Given the description of an element on the screen output the (x, y) to click on. 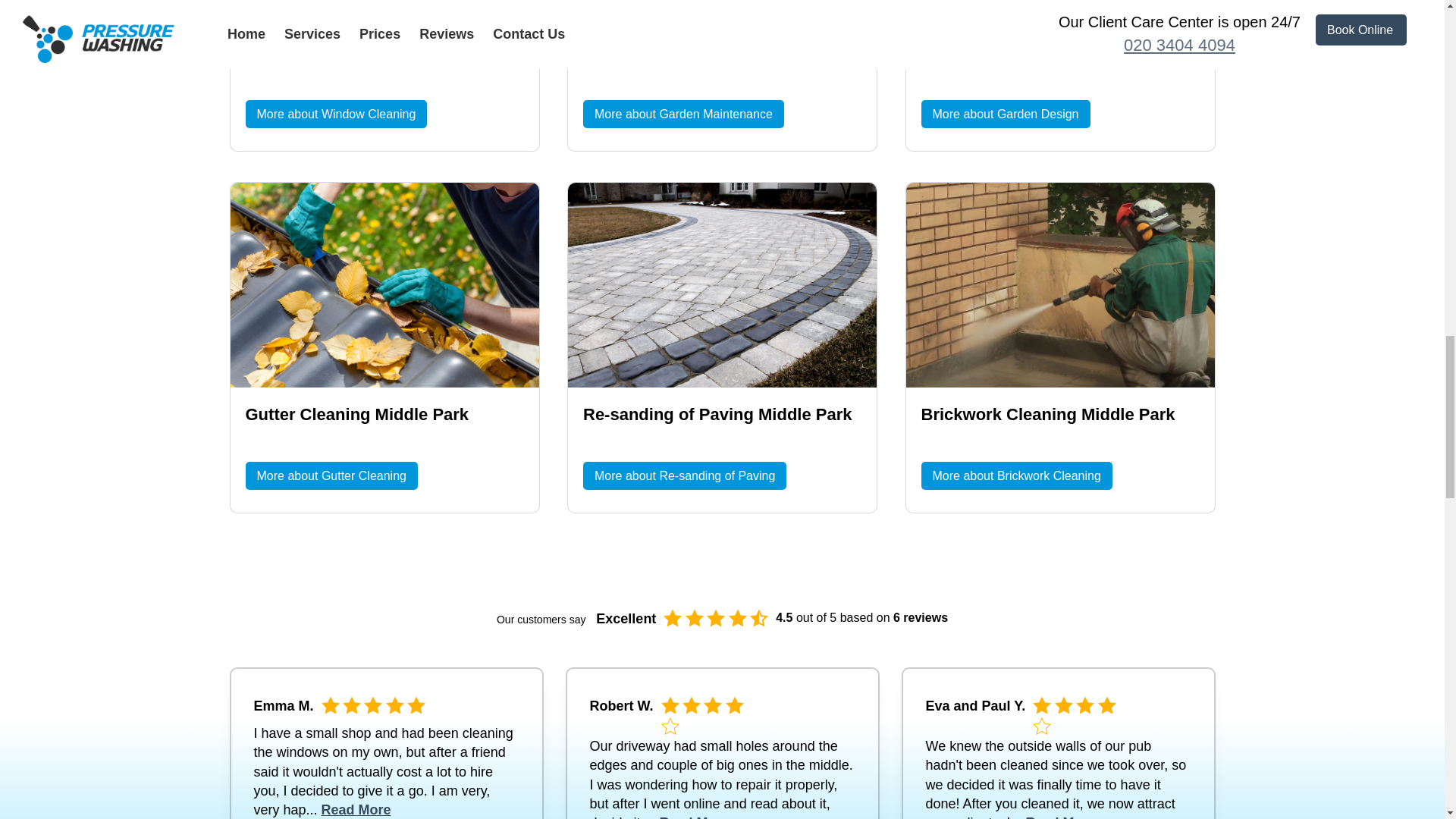
More about Brickwork Cleaning (1016, 475)
More about Re-sanding of Paving (684, 475)
More about Gutter Cleaning (331, 475)
More about Window Cleaning (337, 113)
More about Garden Maintenance (683, 113)
More about Garden Design (1004, 113)
